Given the description of an element on the screen output the (x, y) to click on. 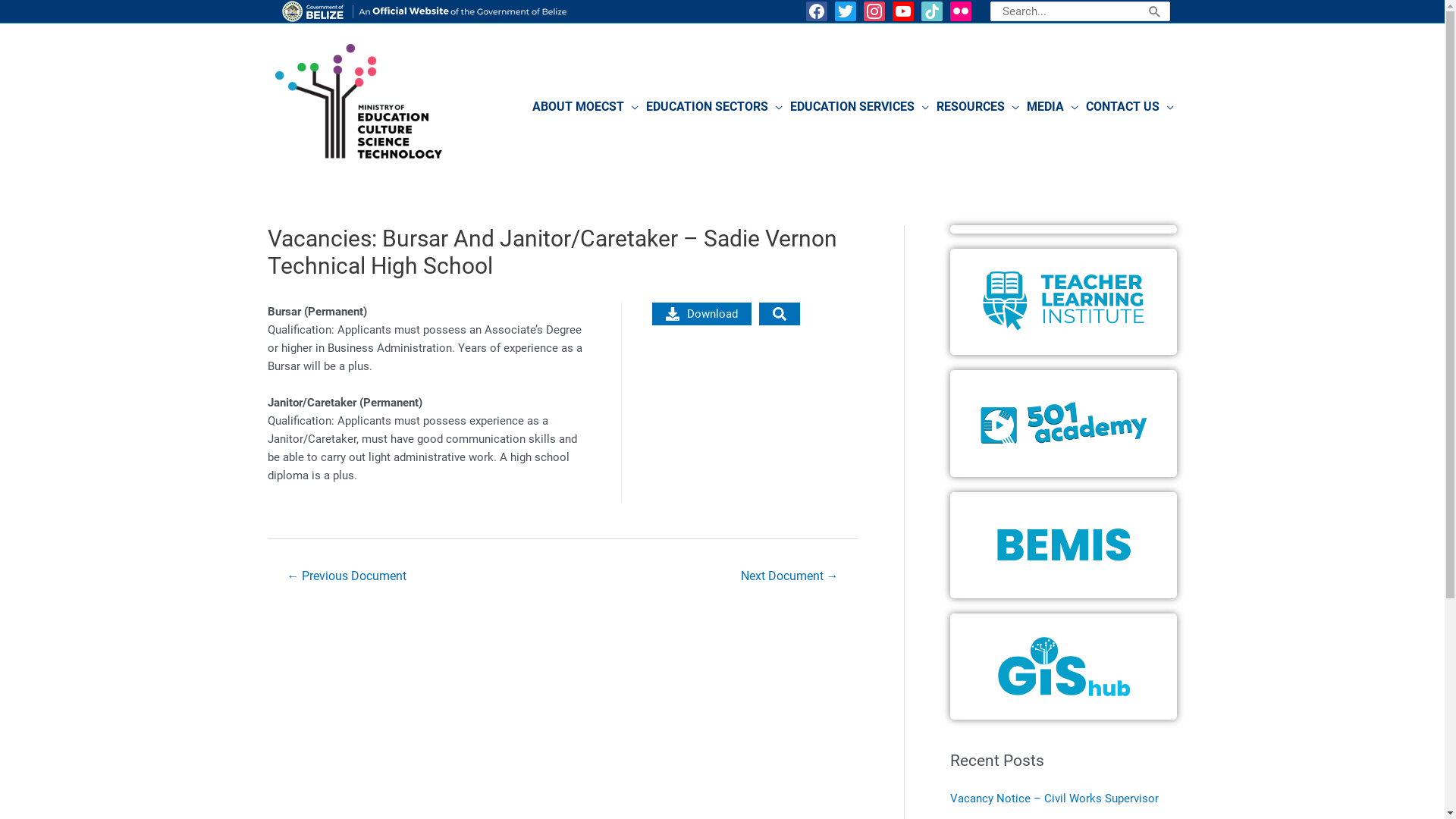
CONTACT US Element type: text (1128, 106)
EDUCATION SERVICES Element type: text (858, 106)
RESOURCES Element type: text (977, 106)
Tiktok Element type: hover (931, 11)
EDUCATION SECTORS Element type: text (713, 106)
Flickr Element type: hover (960, 11)
Search Element type: text (1154, 11)
Twitter Element type: hover (845, 11)
Youtube Element type: hover (902, 11)
ABOUT MOECST Element type: text (584, 106)
Instagram Element type: hover (873, 11)
MEDIA Element type: text (1051, 106)
Facebook Element type: hover (816, 11)
Download Element type: text (701, 313)
